Given the description of an element on the screen output the (x, y) to click on. 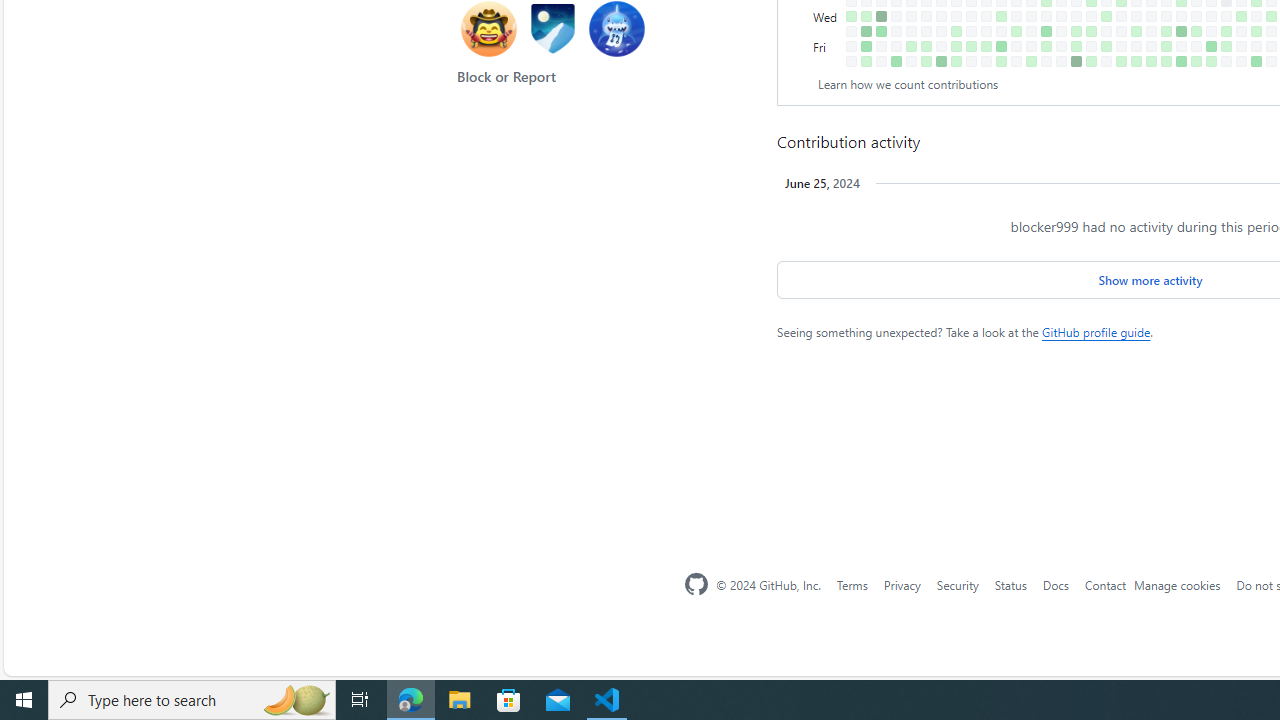
4 contributions on January 27th. (896, 61)
2 contributions on June 22nd. (1211, 61)
No contributions on March 22nd. (1016, 46)
1 contribution on May 31st. (1166, 46)
2 contributions on May 30th. (1166, 30)
No contributions on February 8th. (926, 30)
Docs (1054, 584)
Friday (827, 46)
Thursday (827, 30)
2 contributions on July 3rd. (1241, 16)
No contributions on January 25th. (896, 30)
No contributions on April 12th. (1061, 46)
6 contributions on January 18th. (881, 30)
3 contributions on January 10th. (866, 16)
No contributions on April 13th. (1061, 61)
